Given the description of an element on the screen output the (x, y) to click on. 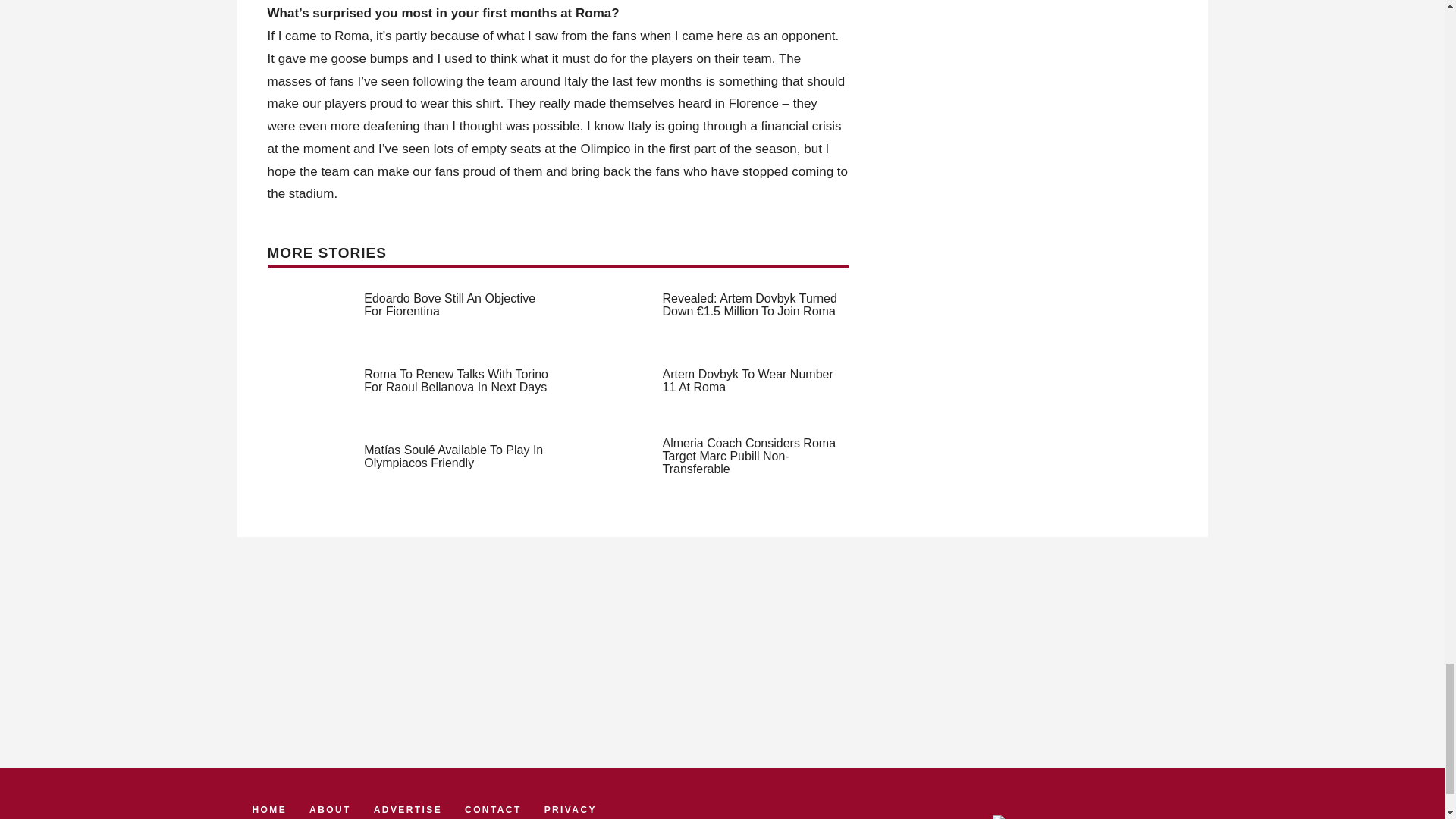
HOME (268, 810)
Edoardo Bove Still An Objective For Fiorentina (449, 304)
ABOUT (329, 810)
Artem Dovbyk To Wear Number 11 At Roma (747, 380)
PRIVACY (570, 810)
ADVERTISE (408, 810)
CONTACT (492, 810)
